Given the description of an element on the screen output the (x, y) to click on. 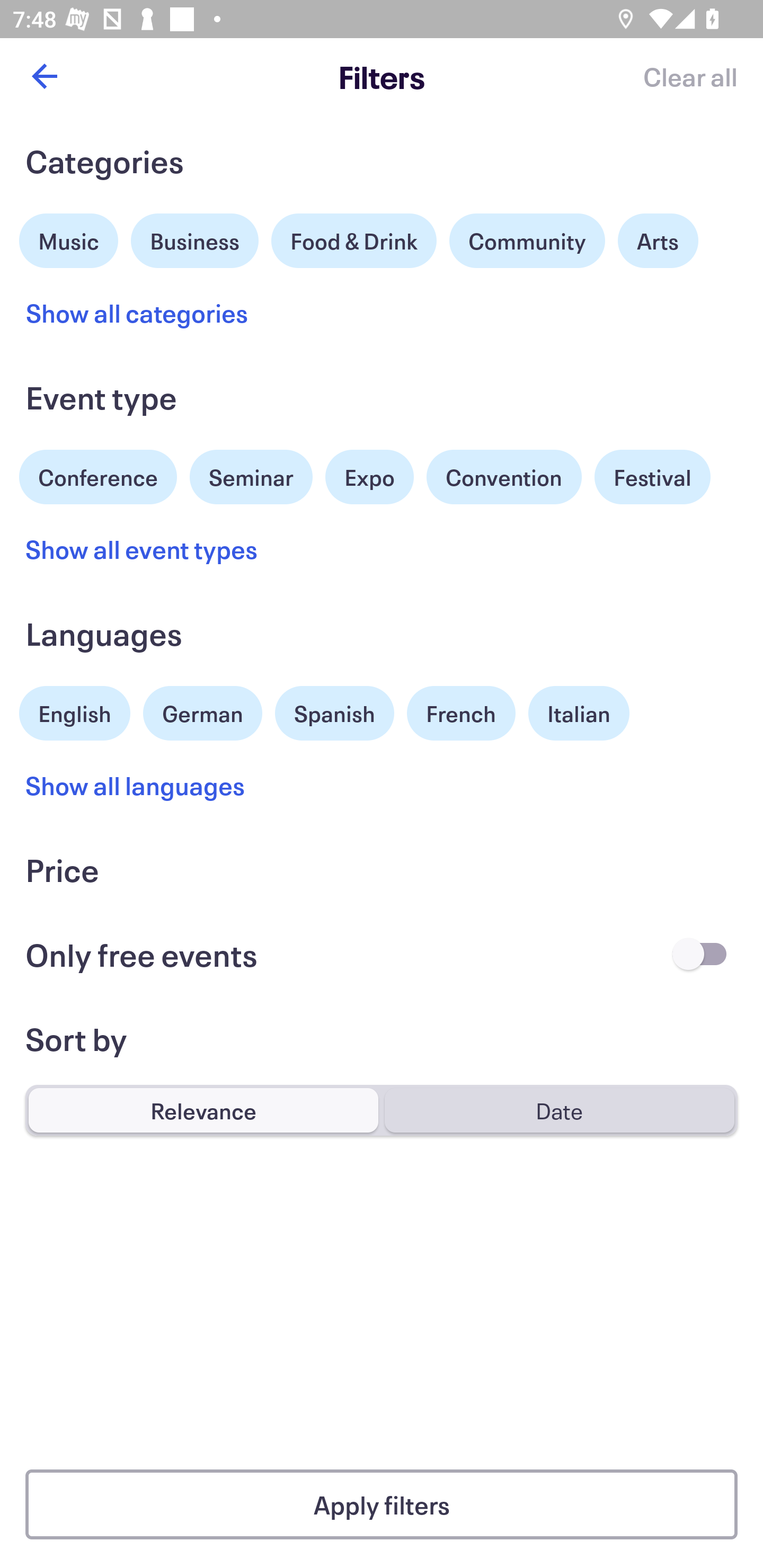
Back button (44, 75)
Clear all (690, 75)
Music (68, 238)
Business (194, 238)
Food & Drink (353, 240)
Community (527, 240)
Arts (658, 240)
Show all categories (136, 312)
Conference (98, 475)
Seminar (250, 477)
Expo (369, 477)
Convention (503, 477)
Festival (652, 477)
Show all event types (141, 548)
English (74, 710)
German (202, 710)
Spanish (334, 713)
French (460, 713)
Italian (578, 713)
Show all languages (135, 784)
Relevance (203, 1109)
Date (559, 1109)
Apply filters (381, 1504)
